Given the description of an element on the screen output the (x, y) to click on. 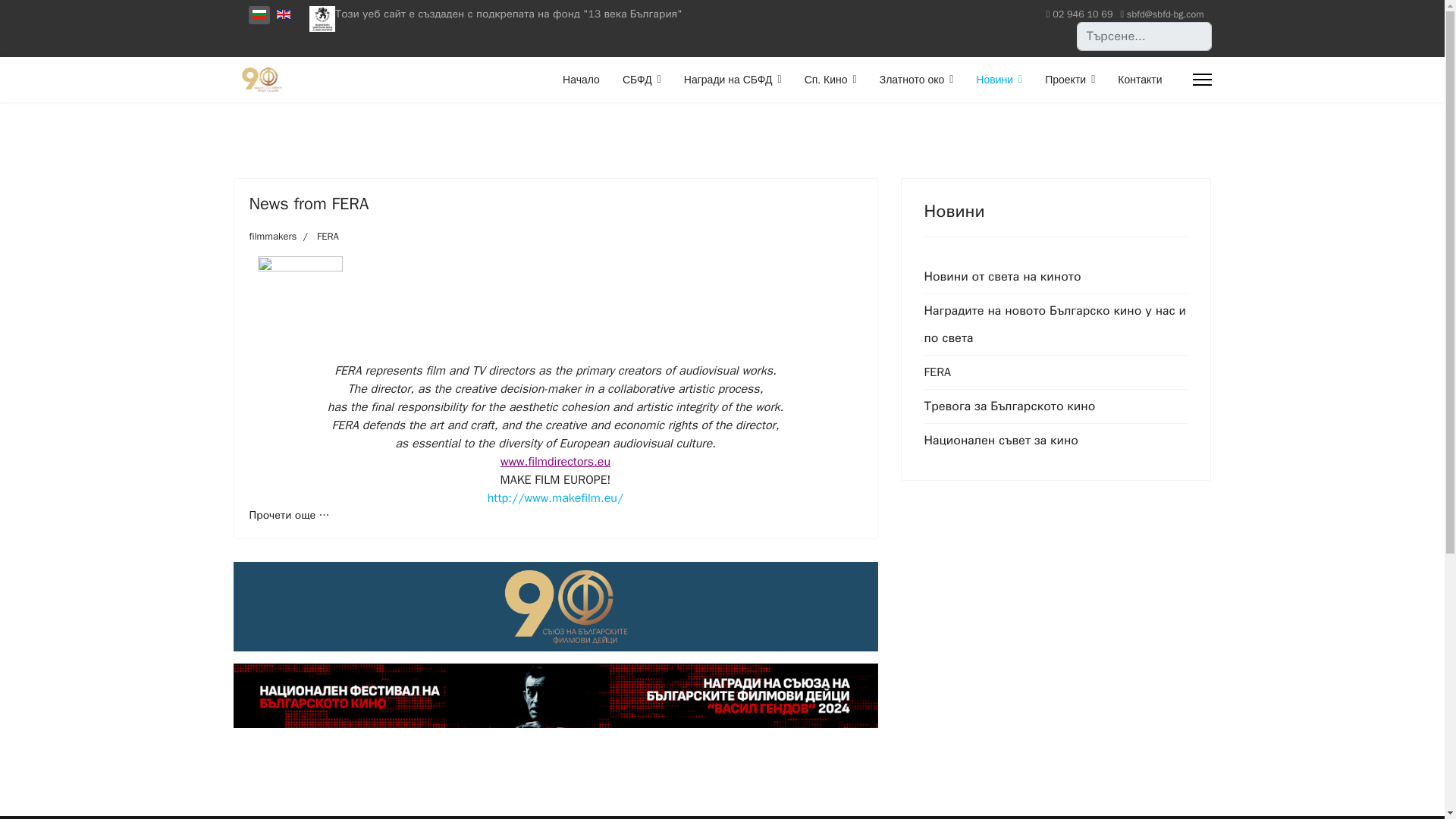
Bulgarian (257, 13)
02 946 10 69 (1082, 14)
Menu (1201, 79)
